Given the description of an element on the screen output the (x, y) to click on. 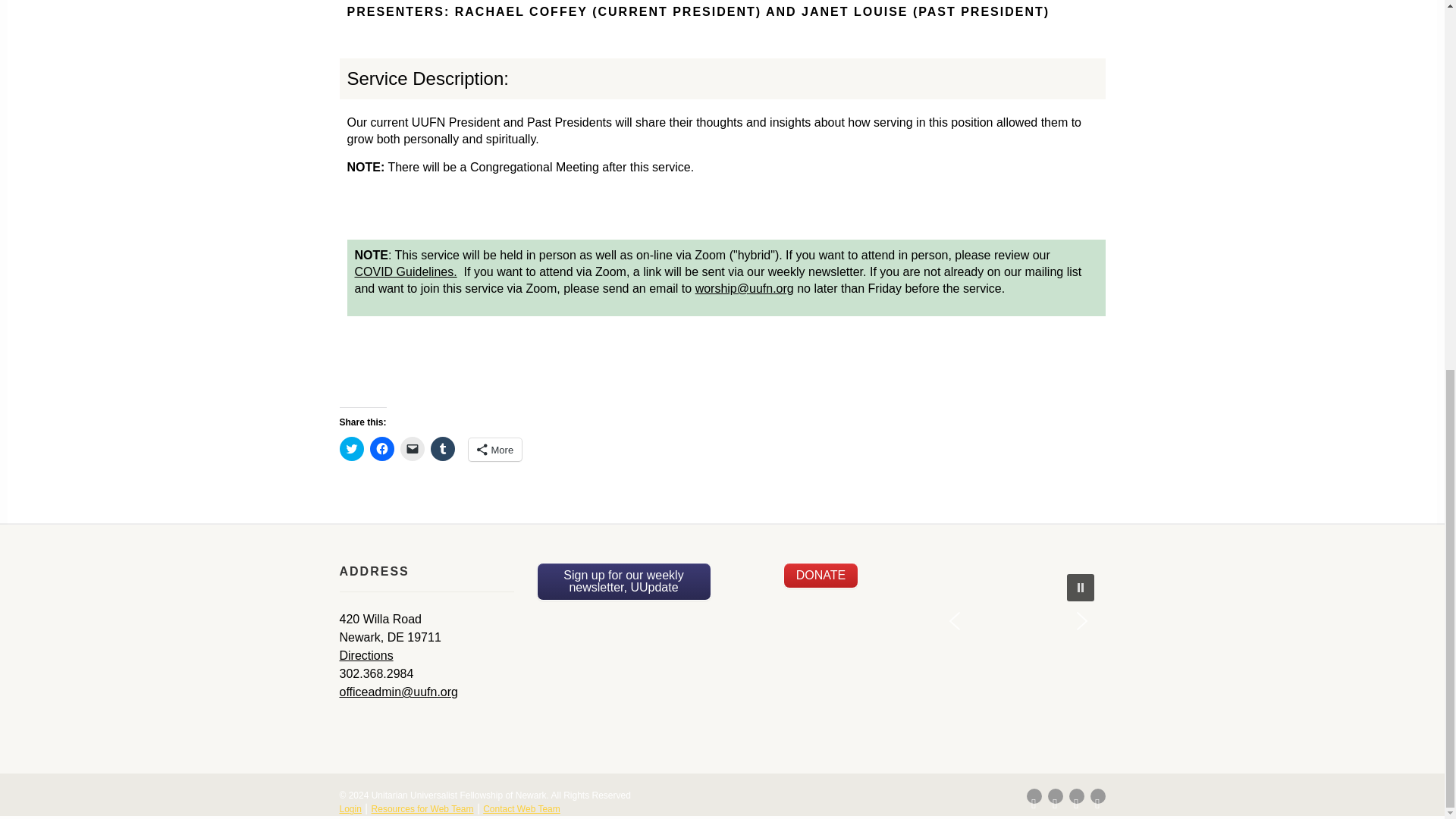
Click to share on Facebook (381, 448)
Click to email a link to a friend (412, 448)
Click to share on Tumblr (442, 448)
Click to share on Twitter (351, 448)
